Given the description of an element on the screen output the (x, y) to click on. 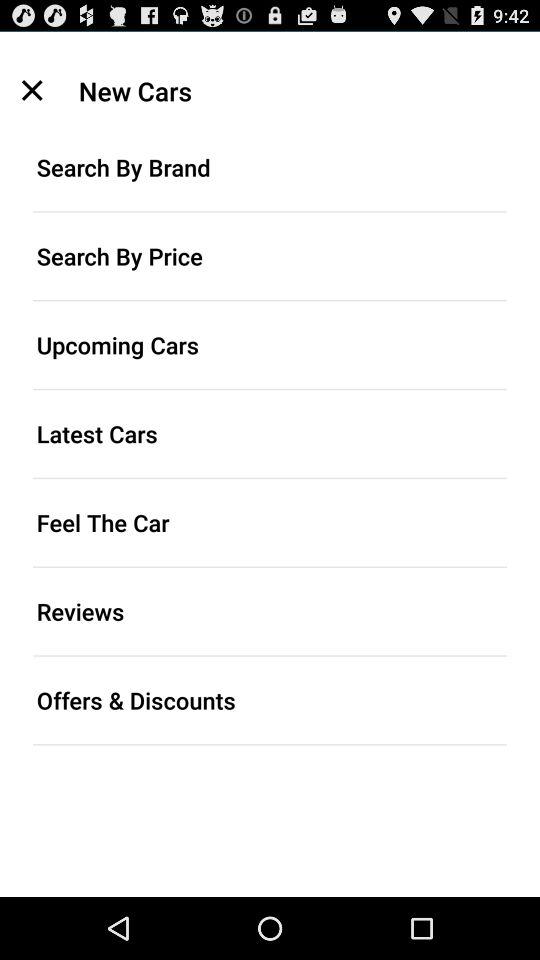
press the offers & discounts icon (270, 699)
